Given the description of an element on the screen output the (x, y) to click on. 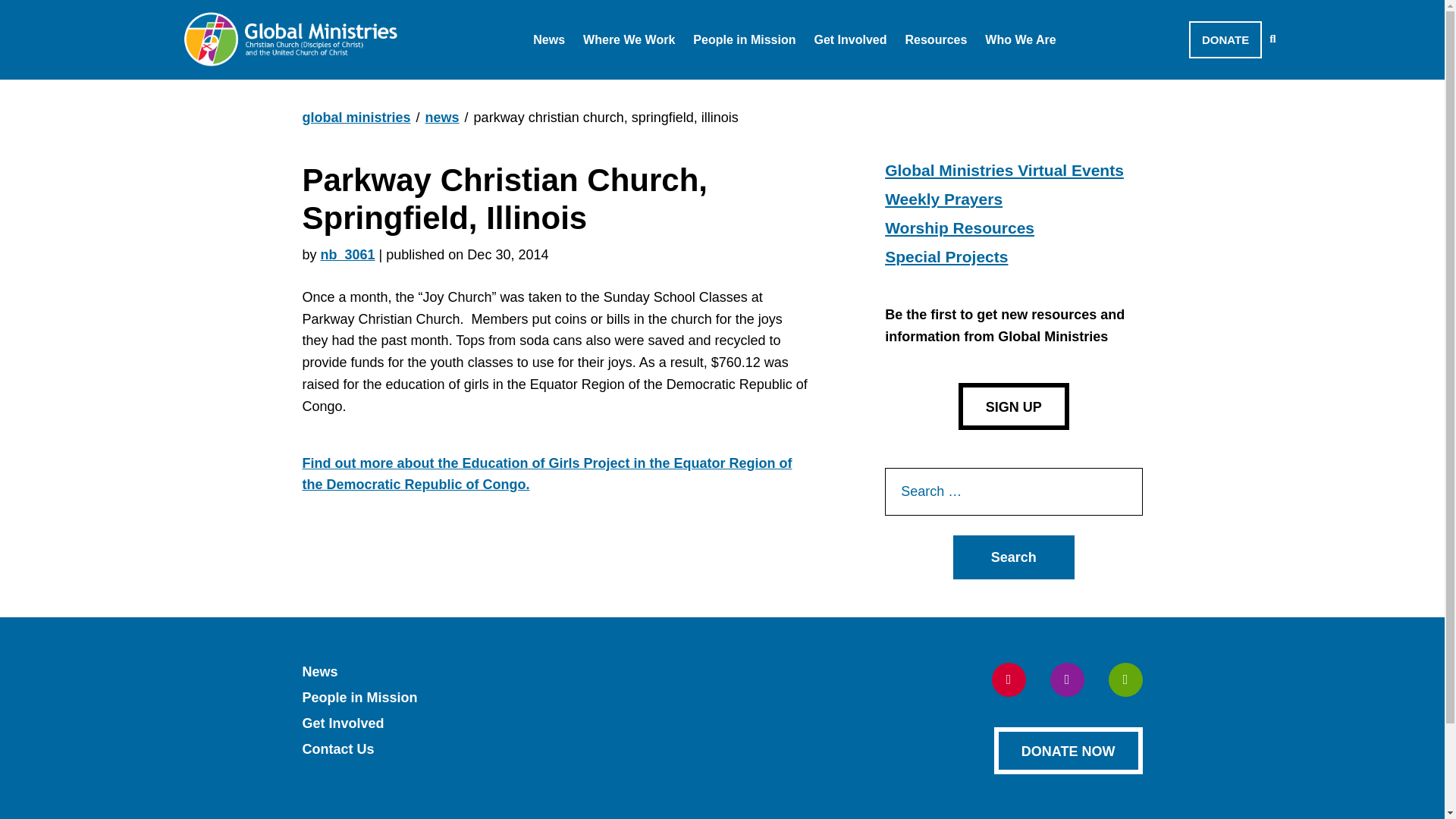
Follow us on Twitter (1066, 679)
Search (1013, 557)
Sign Up (1013, 406)
Follow us on Facebook (1008, 679)
Global Mission Interns (780, 79)
Give Online or by Check (1161, 67)
Search (1013, 557)
Middle East and Europe (675, 79)
Calendar of Missionary Visits (643, 79)
Job Openings with Global Ministries (666, 79)
